Given the description of an element on the screen output the (x, y) to click on. 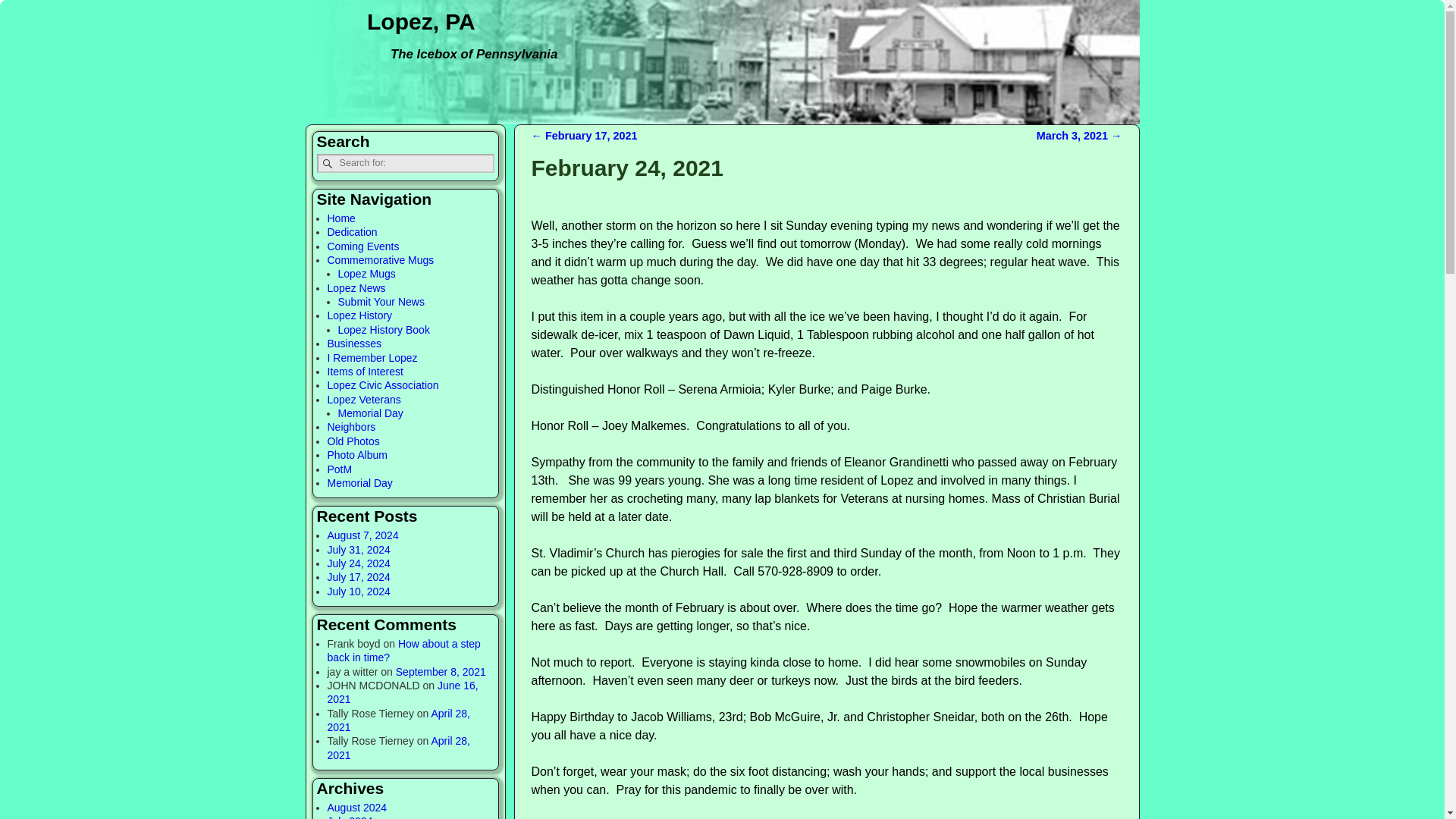
Lopez, PA (421, 21)
Memorial Day (370, 413)
Lopez History (360, 315)
July 24, 2024 (358, 563)
September 8, 2021 (441, 671)
Old Photos (353, 440)
August 7, 2024 (362, 535)
Memorial Day (360, 482)
Home (341, 218)
How about a step back in time? (403, 650)
